Given the description of an element on the screen output the (x, y) to click on. 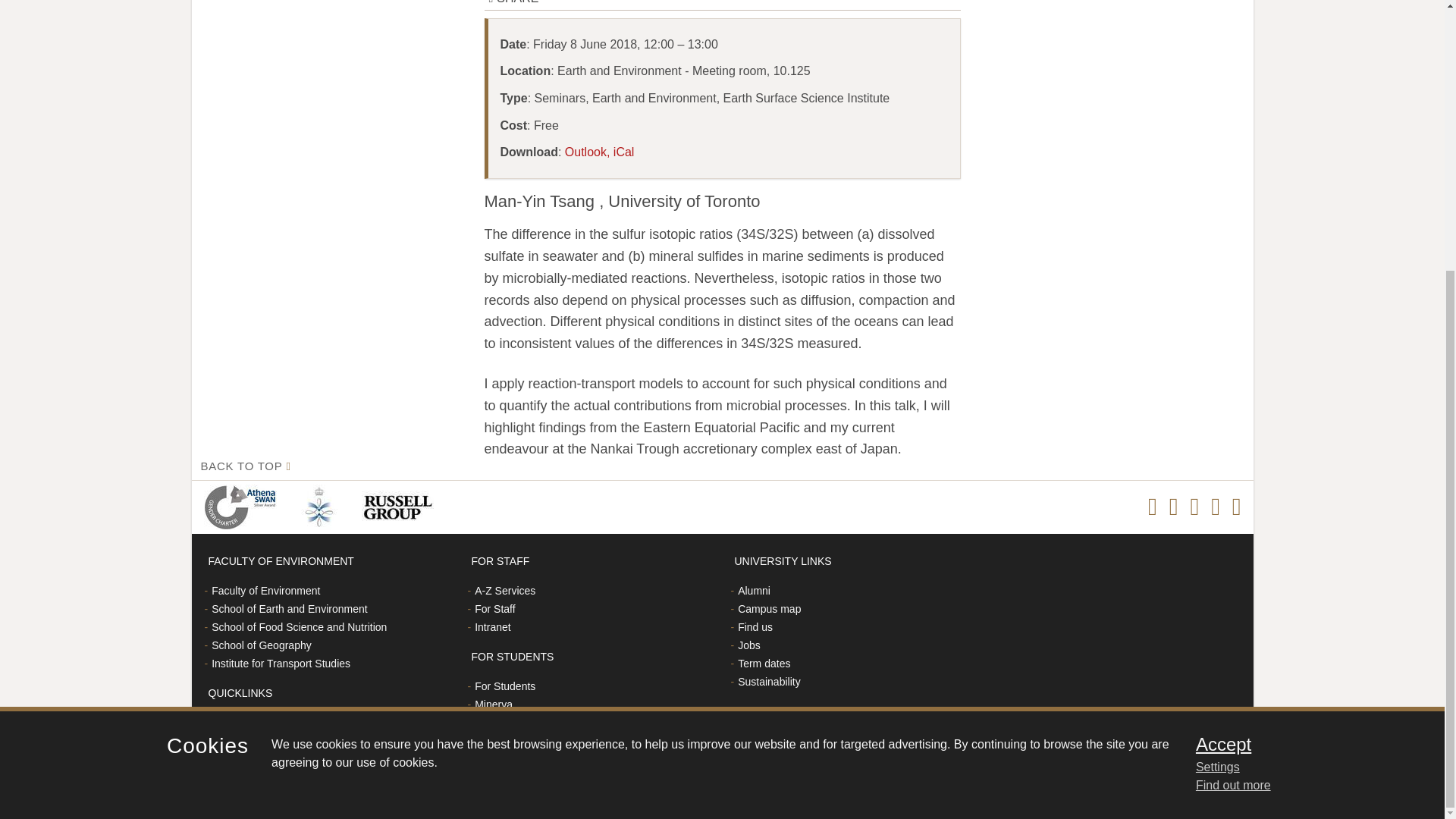
Find out more (1233, 390)
Visit Russell Group (400, 506)
Settings (1300, 372)
Visit Athena SWAN Silver award (242, 506)
Accept (1300, 349)
Visit Queen's anniversary prize (321, 506)
